Given the description of an element on the screen output the (x, y) to click on. 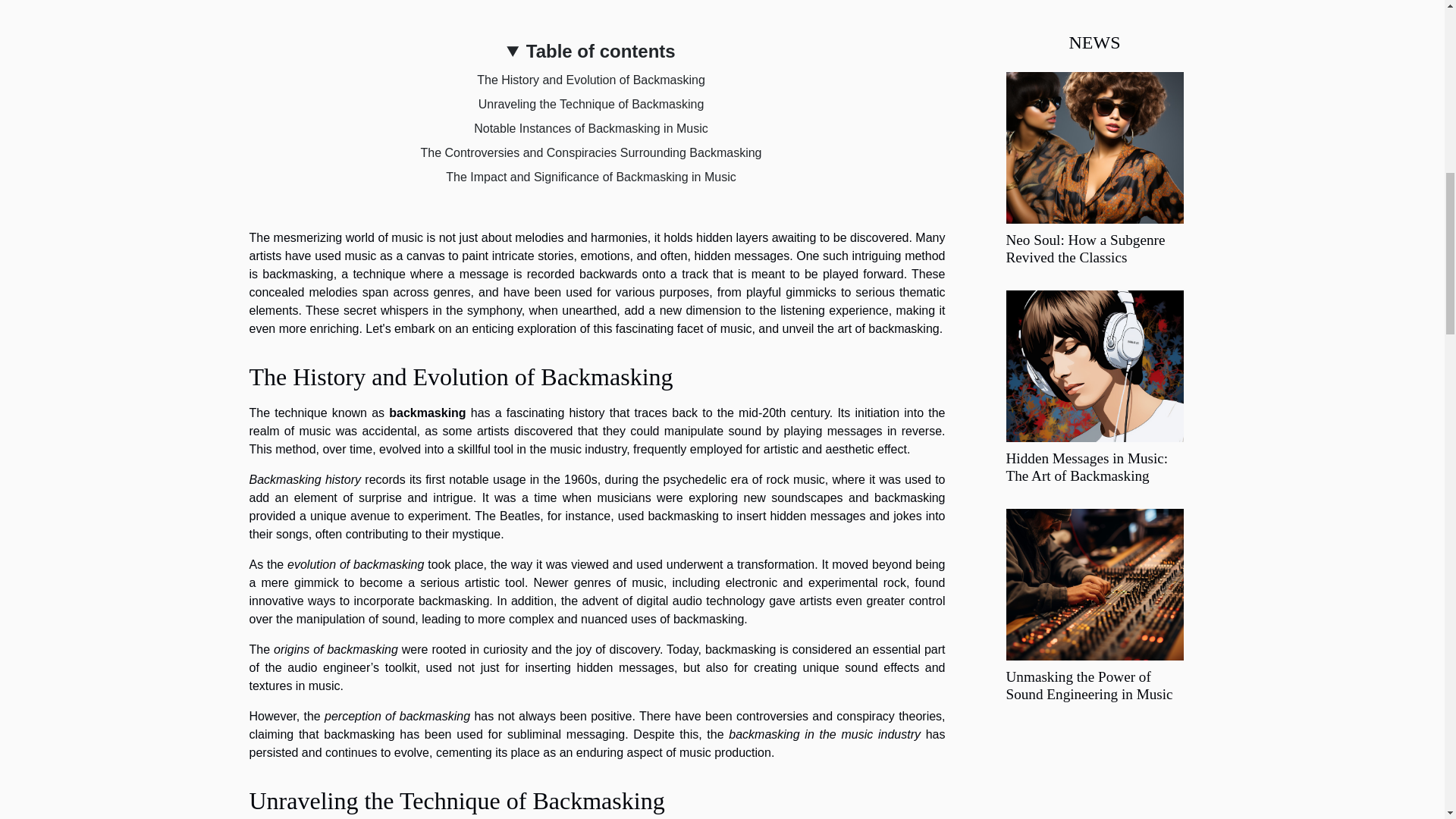
Hidden Messages in Music: The Art of Backmasking (1086, 467)
Hidden Messages in Music: The Art of Backmasking (1086, 467)
Unmasking the Power of Sound Engineering in Music (1094, 584)
Unmasking the Power of Sound Engineering in Music (1089, 685)
Neo Soul: How a Subgenre Revived the Classics (1085, 248)
The Controversies and Conspiracies Surrounding Backmasking (590, 152)
Neo Soul: How a Subgenre Revived the Classics (1094, 146)
The History and Evolution of Backmasking (590, 79)
The Impact and Significance of Backmasking in Music (590, 176)
Notable Instances of Backmasking in Music (590, 128)
